Given the description of an element on the screen output the (x, y) to click on. 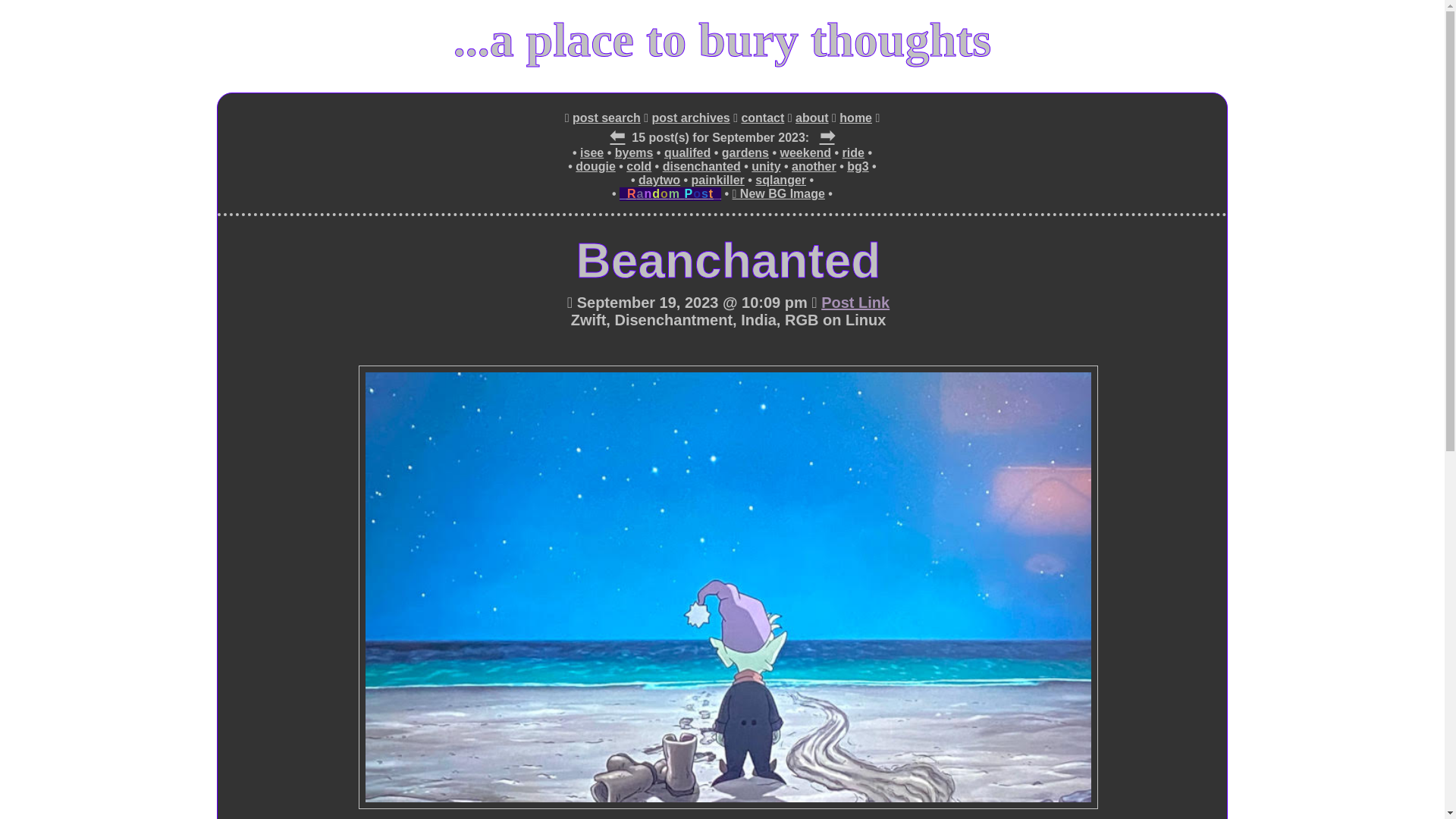
dougie (594, 166)
gardens (745, 152)
byems (633, 152)
weekend (804, 152)
post archives (691, 118)
...a place to bury thoughts (721, 39)
contact (762, 118)
disenchanted (701, 166)
isee (591, 152)
daytwo (659, 180)
unity (765, 166)
home (856, 118)
ride (853, 152)
